Given the description of an element on the screen output the (x, y) to click on. 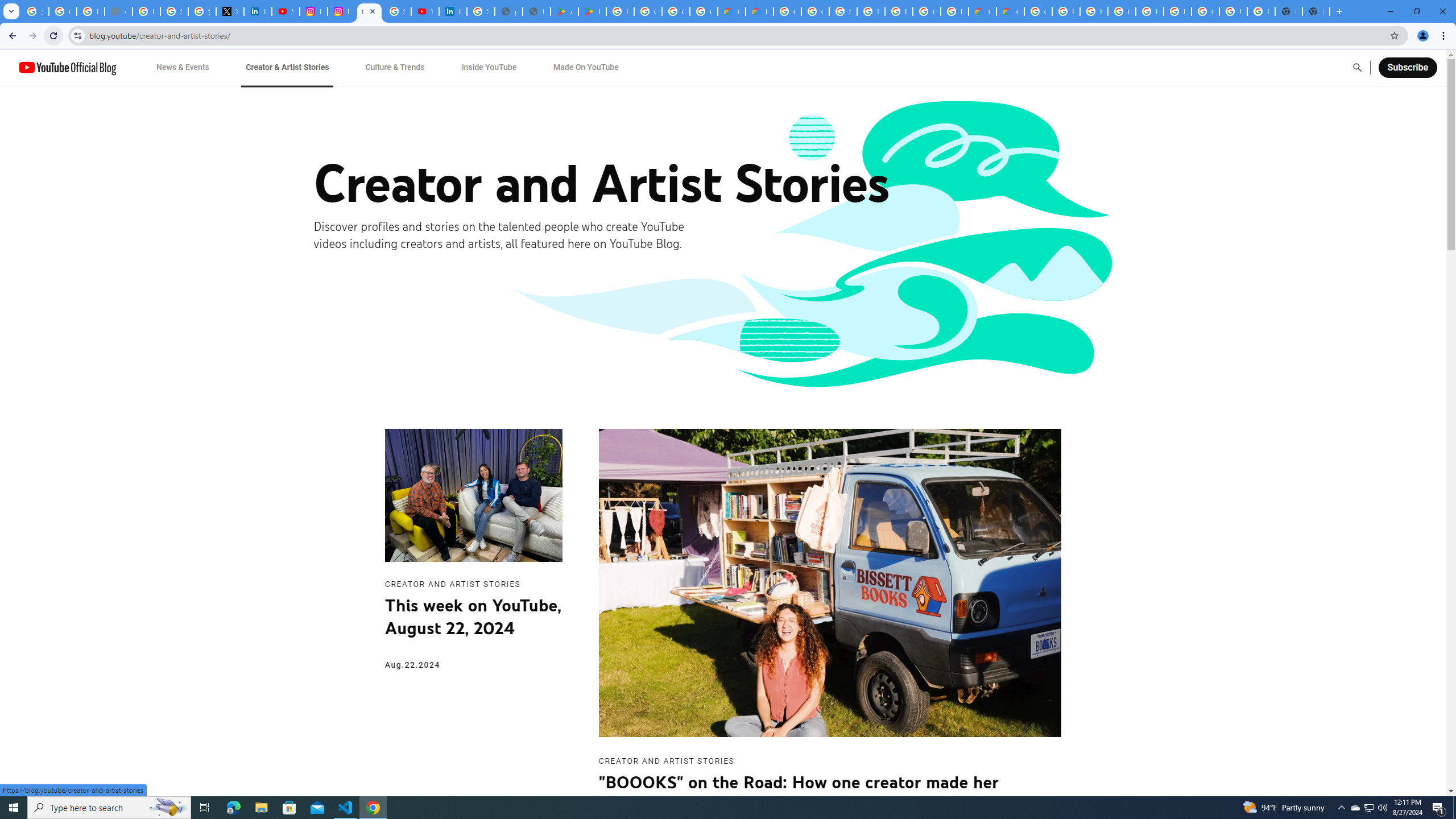
Sign in - Google Accounts (397, 11)
Made On YouTube (585, 67)
Google Cloud Platform (926, 11)
Culture & Trends (395, 67)
Google Cloud Estimate Summary (1010, 11)
Inside YouTube (488, 67)
YouTube Official Blog logo (67, 67)
Google Workspace - Specific Terms (675, 11)
Google Workspace - Specific Terms (703, 11)
